Given the description of an element on the screen output the (x, y) to click on. 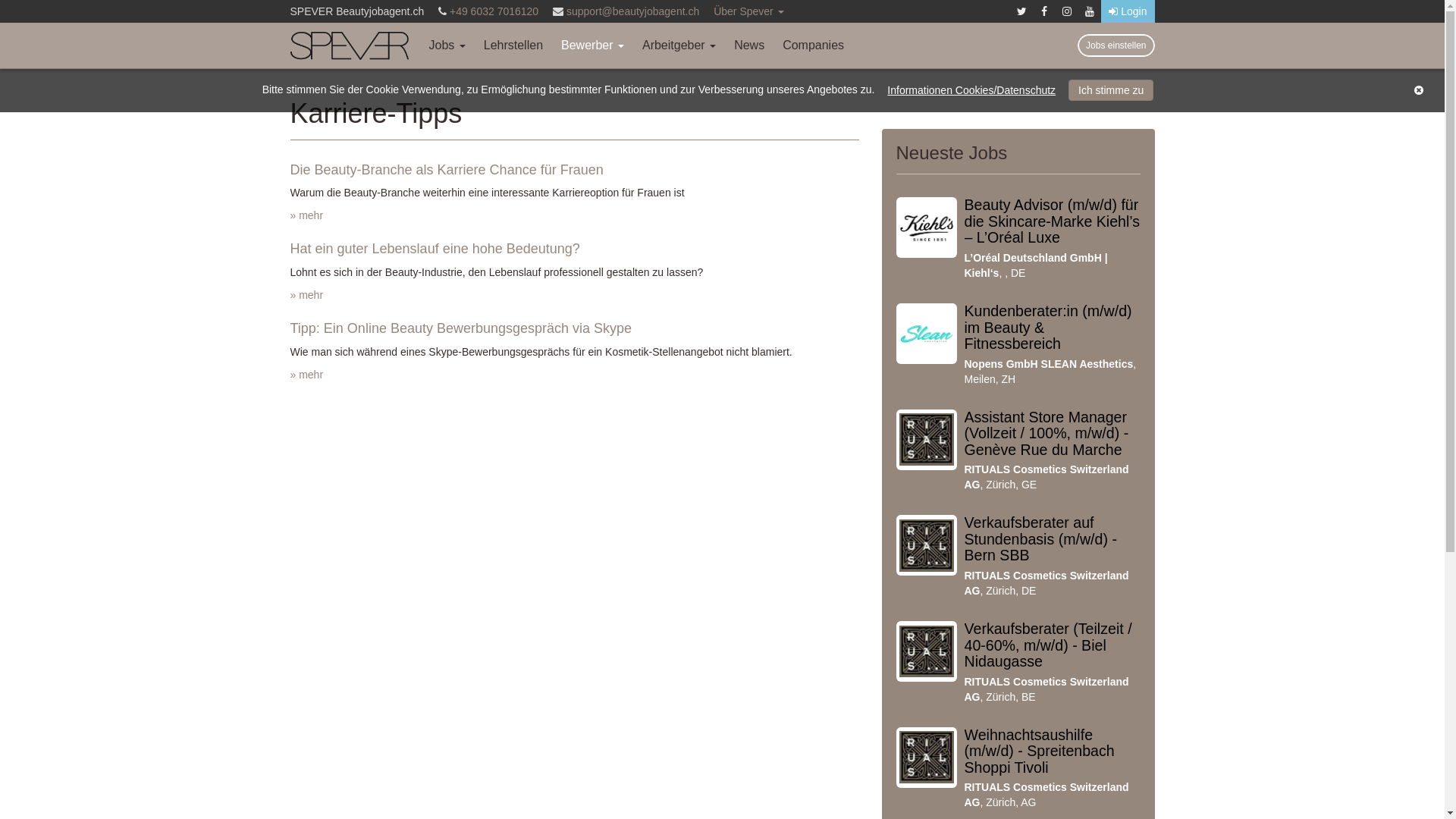
Kundenberater:in (m/w/d) im Beauty & Fitnessbereich Element type: text (1048, 326)
News Element type: text (748, 45)
Weihnachtsaushilfe (m/w/d) - Spreitenbach Shoppi Tivoli Element type: text (1039, 750)
Companies Element type: text (813, 45)
Lehrstellen Element type: text (513, 45)
Verkaufsberater (Teilzeit / 40-60%, m/w/d) - Biel Nidaugasse Element type: text (1048, 644)
Ich stimme zu Element type: text (1110, 89)
Verkaufsberater auf Stundenbasis (m/w/d) - Bern SBB Element type: text (1040, 538)
Jobs Element type: text (447, 45)
Arbeitgeber Element type: text (678, 45)
+49 6032 7016120 Element type: text (493, 11)
support@beautyjobagent.ch Element type: text (632, 11)
Bewerber Element type: text (592, 45)
Hat ein guter Lebenslauf eine hohe Bedeutung? Element type: text (434, 248)
Login Element type: text (1127, 11)
Jobs einstellen Element type: text (1115, 45)
